Given the description of an element on the screen output the (x, y) to click on. 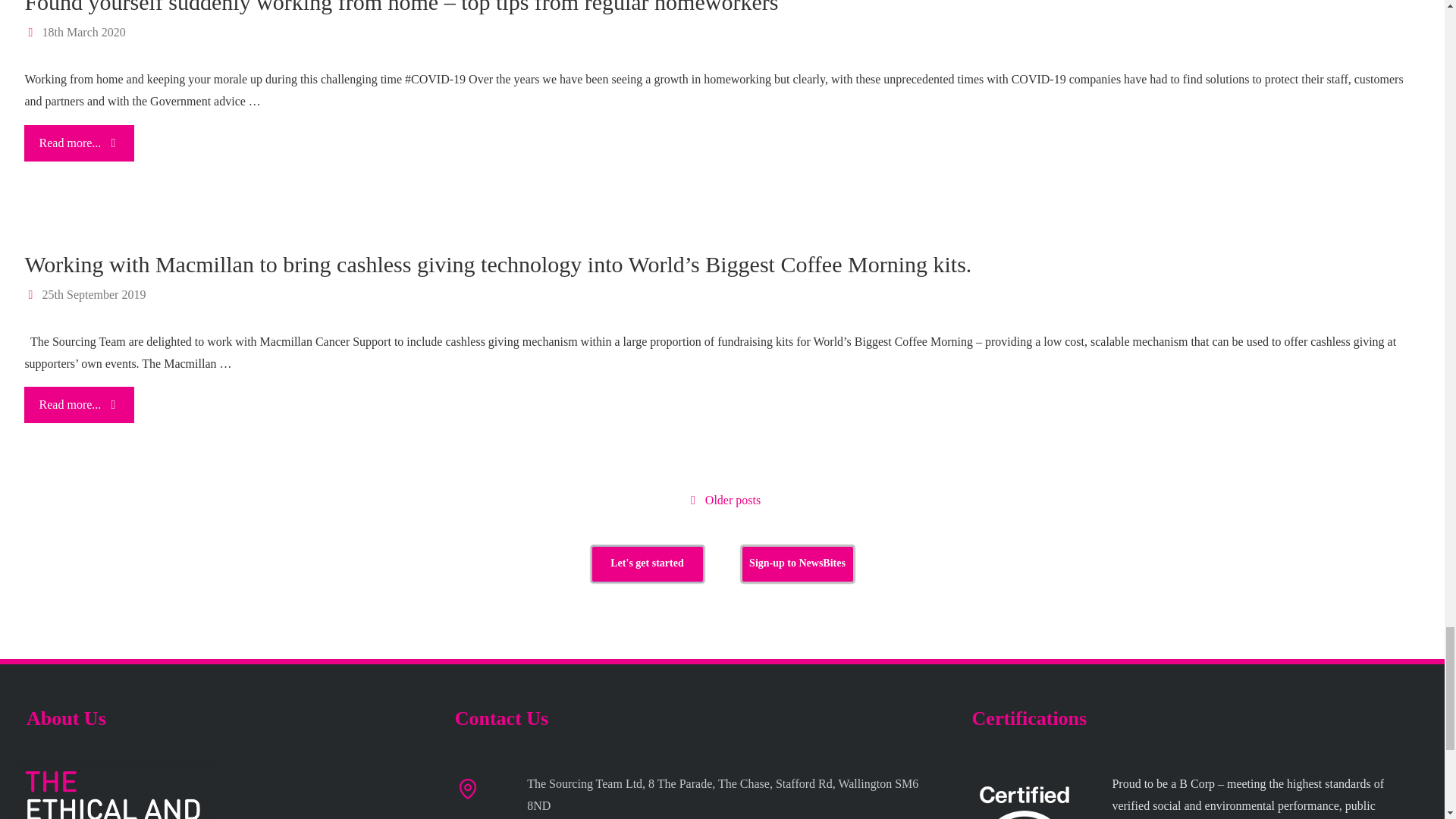
Sign-up to NewsBites (796, 564)
Date (31, 294)
Let's get started (646, 564)
Date (31, 31)
